Given the description of an element on the screen output the (x, y) to click on. 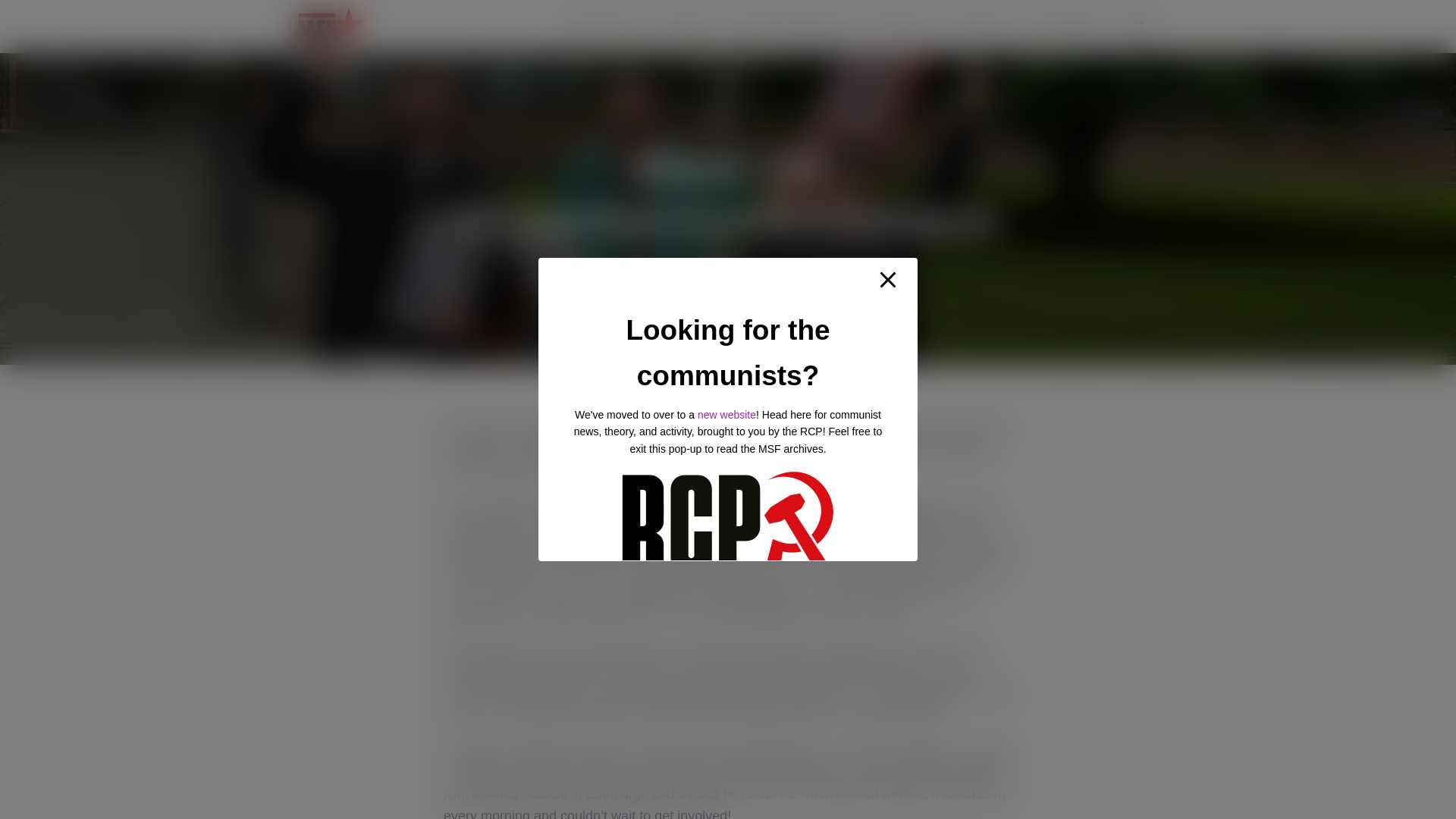
Articles (687, 26)
CONTACT US (982, 26)
Search (3, 16)
REVOLUTION MAGAZINE (791, 26)
CAMPAIGNS (900, 26)
SOCIAL MEDIA (1070, 26)
Who we are (604, 26)
ARTICLES (687, 26)
Marxist Student Federation (330, 26)
WHO WE ARE (604, 26)
